Given the description of an element on the screen output the (x, y) to click on. 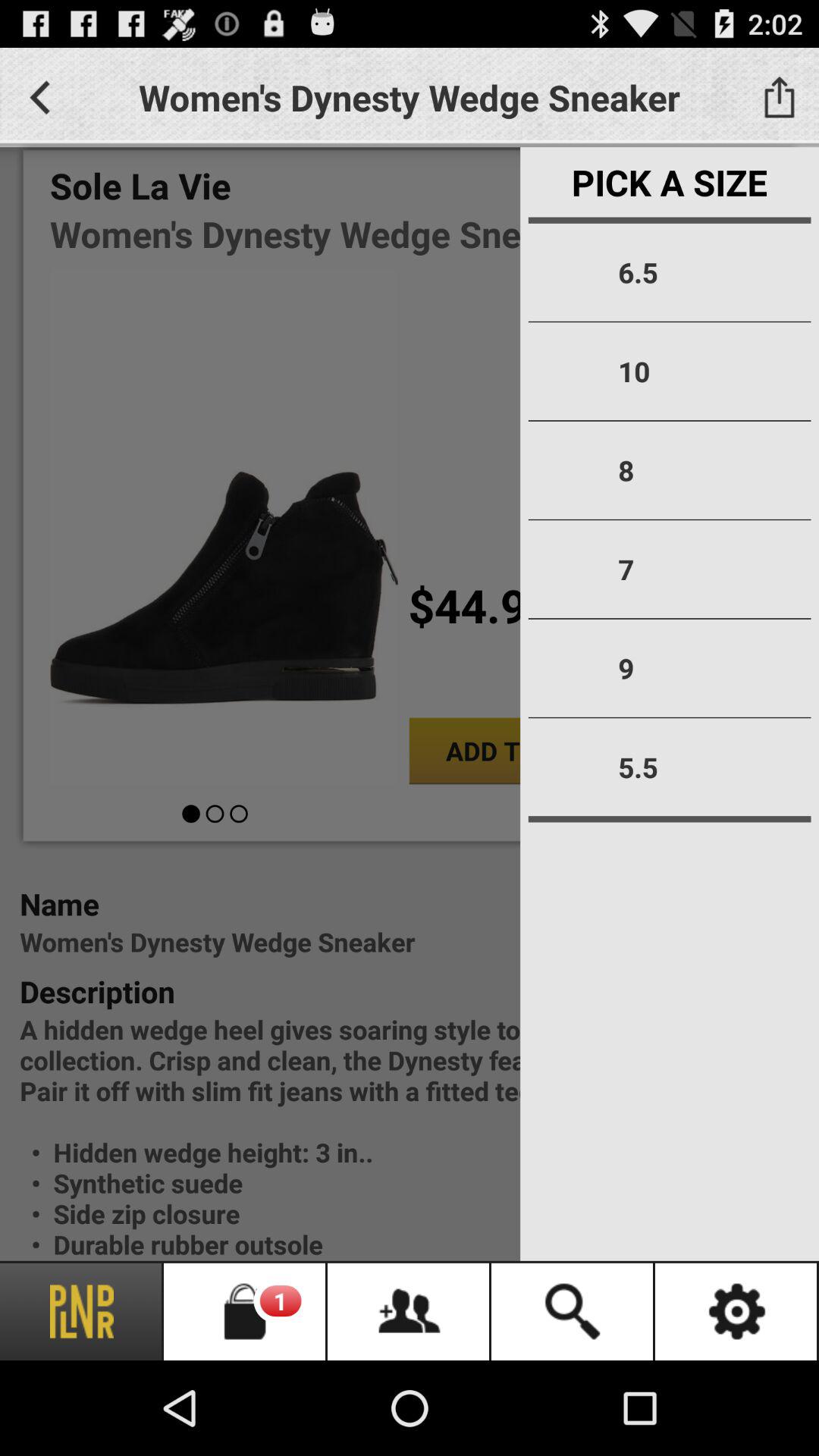
select the search icon (573, 1311)
